Given the description of an element on the screen output the (x, y) to click on. 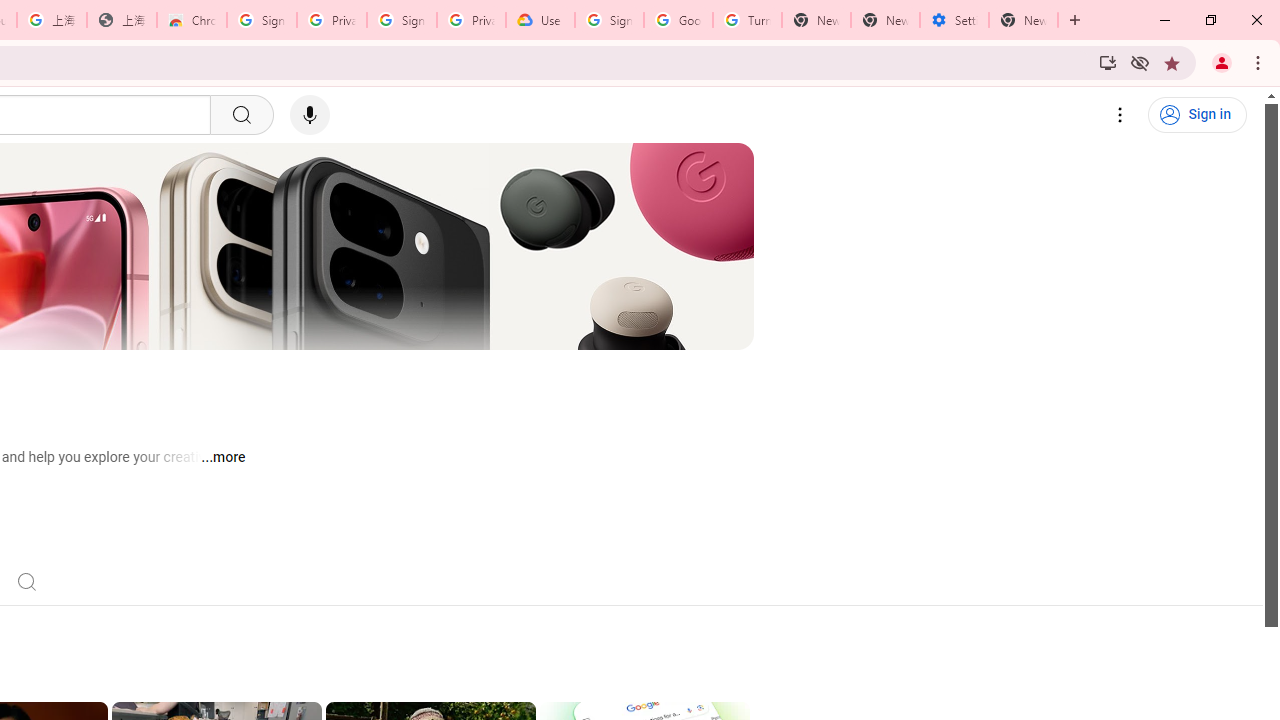
New Tab (1023, 20)
Install YouTube (1107, 62)
Chrome Web Store - Color themes by Chrome (191, 20)
Google Account Help (677, 20)
